Given the description of an element on the screen output the (x, y) to click on. 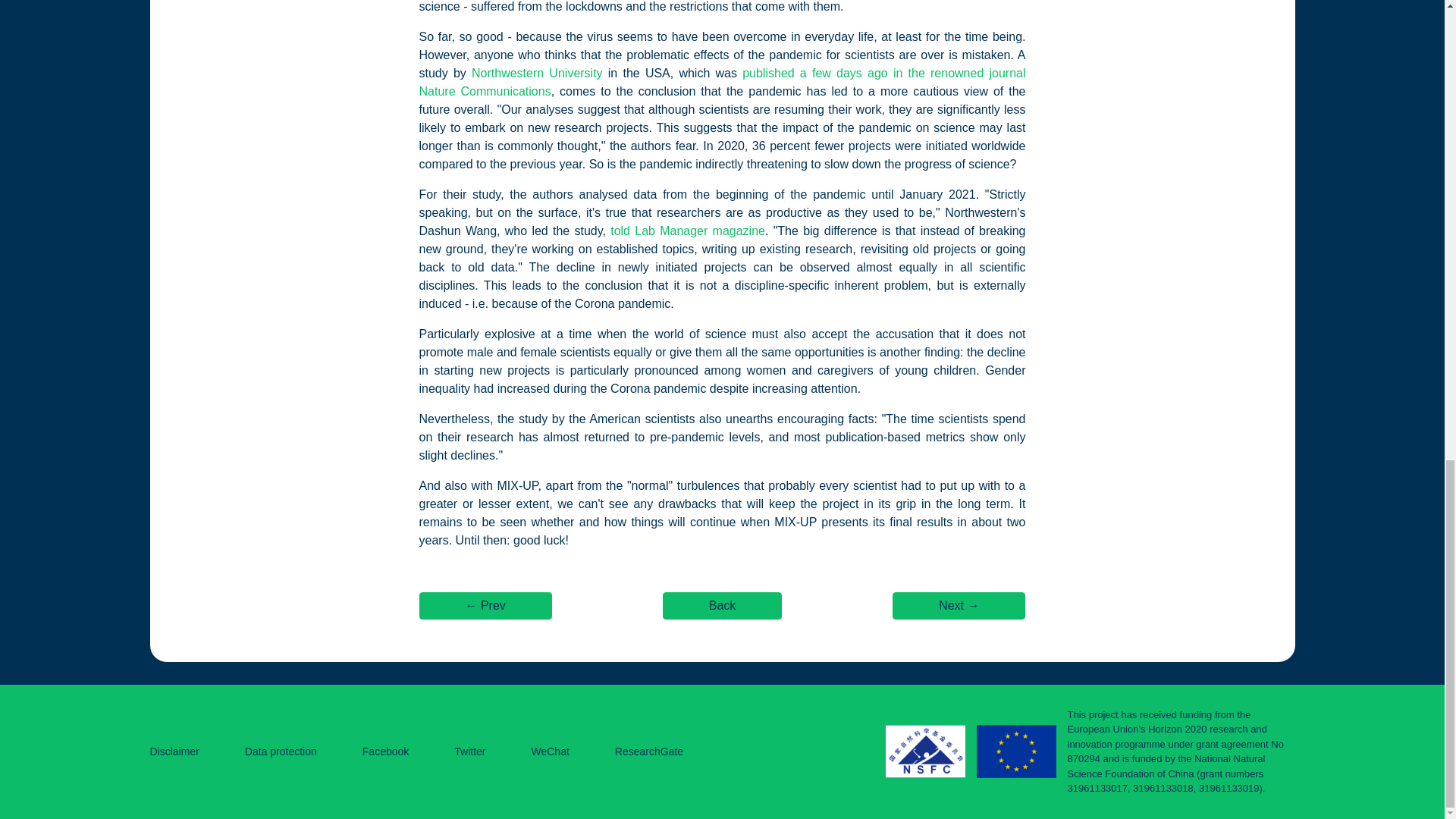
Data protection (280, 751)
ResearchGate (648, 751)
Now It's Up to the Cities (958, 605)
Disclaimer (174, 751)
WeChat (550, 751)
Twitter (469, 751)
Northwestern University (536, 72)
Back (722, 605)
Facebook (385, 751)
told Lab Manager magazine (687, 229)
